Given the description of an element on the screen output the (x, y) to click on. 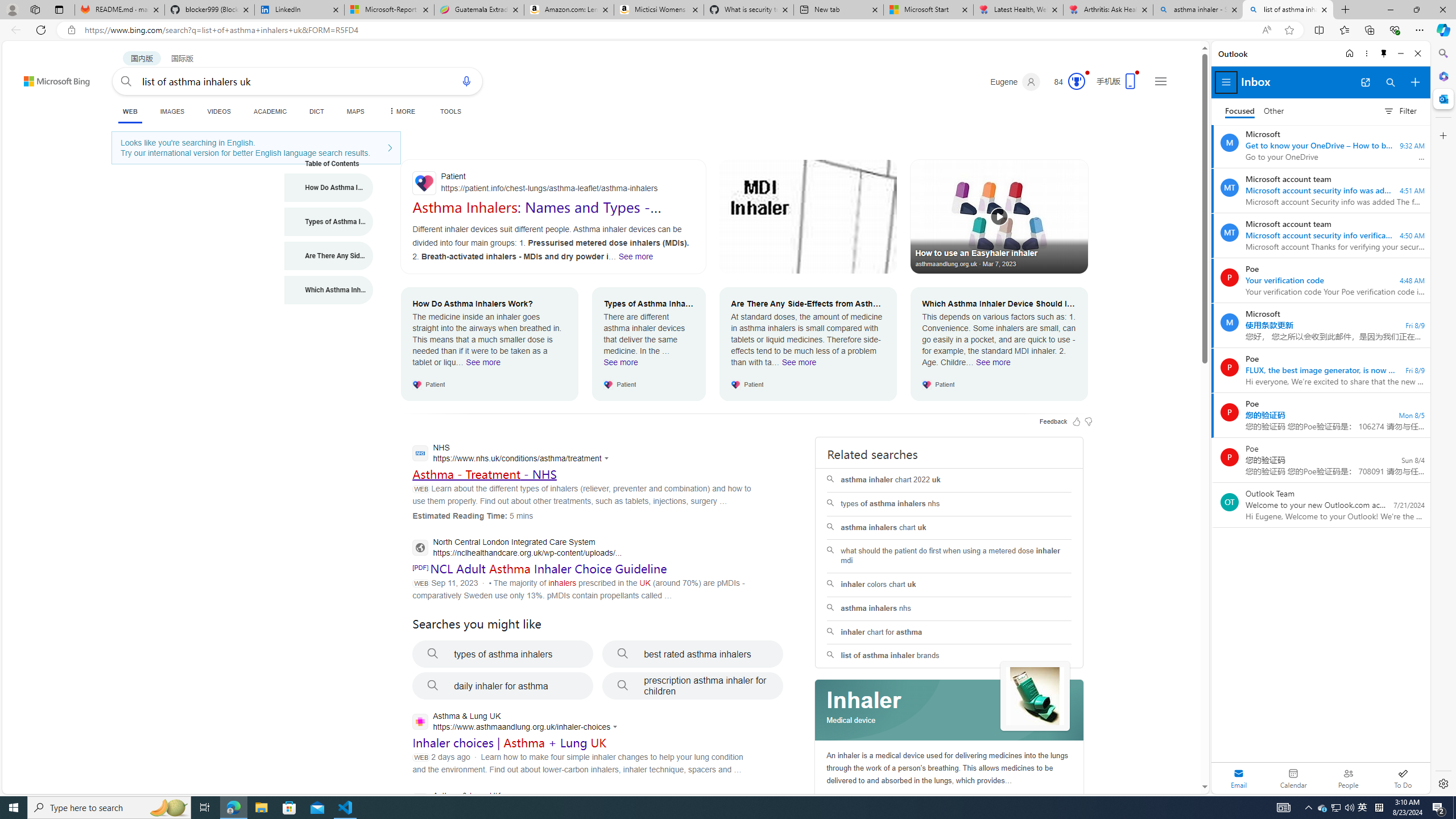
ACADEMIC (269, 111)
NHS (513, 454)
WEB (129, 112)
MORE (400, 111)
inhaler colors chart uk (949, 584)
Dropdown Menu (400, 111)
Search button (126, 80)
People (1347, 777)
list of asthma inhaler brands (949, 656)
Feedback Like (1076, 420)
asthma inhalers chart uk (949, 527)
To Do (1402, 777)
MAPS (355, 111)
